Given the description of an element on the screen output the (x, y) to click on. 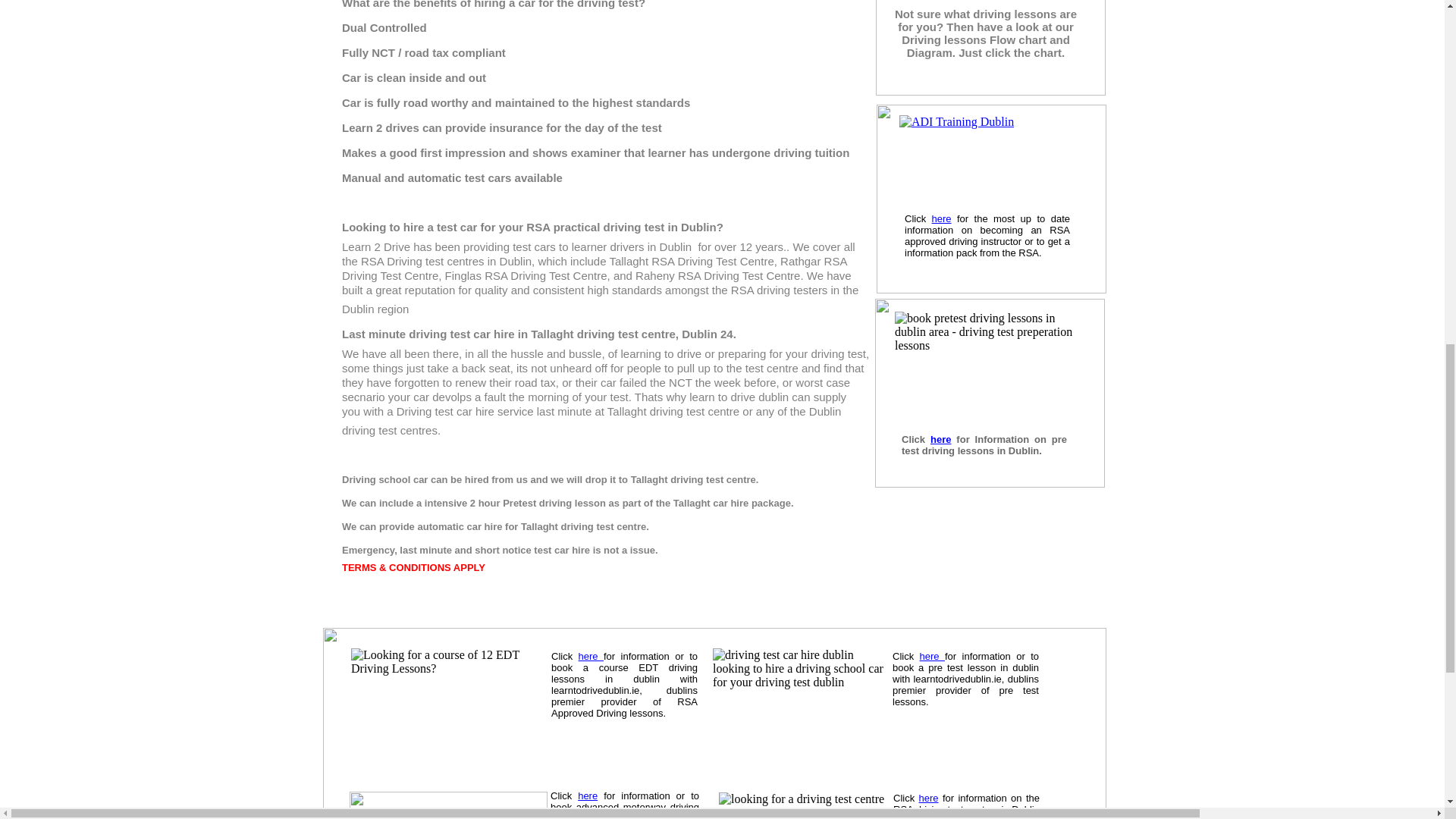
here (940, 439)
here (587, 795)
here (932, 655)
here (928, 797)
here (941, 218)
here (591, 655)
